Given the description of an element on the screen output the (x, y) to click on. 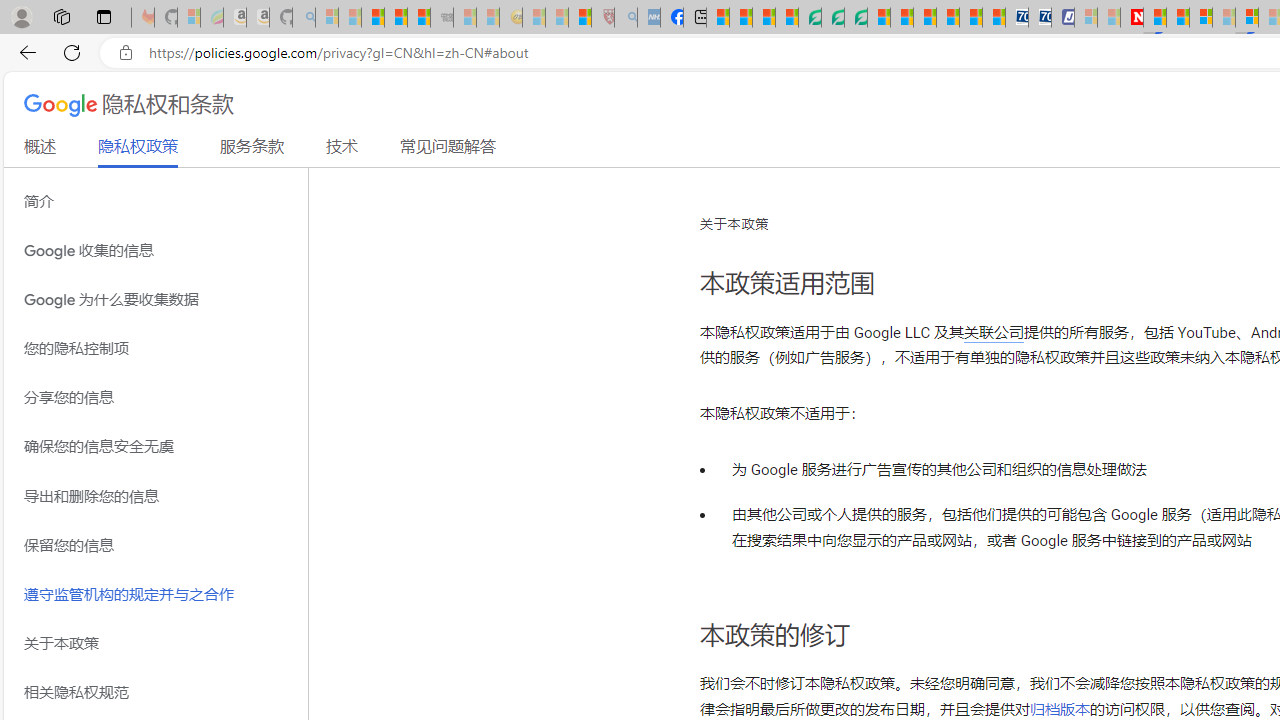
LendingTree - Compare Lenders (809, 17)
Microsoft Word - consumer-privacy address update 2.2021 (855, 17)
Terms of Use Agreement (832, 17)
Local - MSN (580, 17)
